Given the description of an element on the screen output the (x, y) to click on. 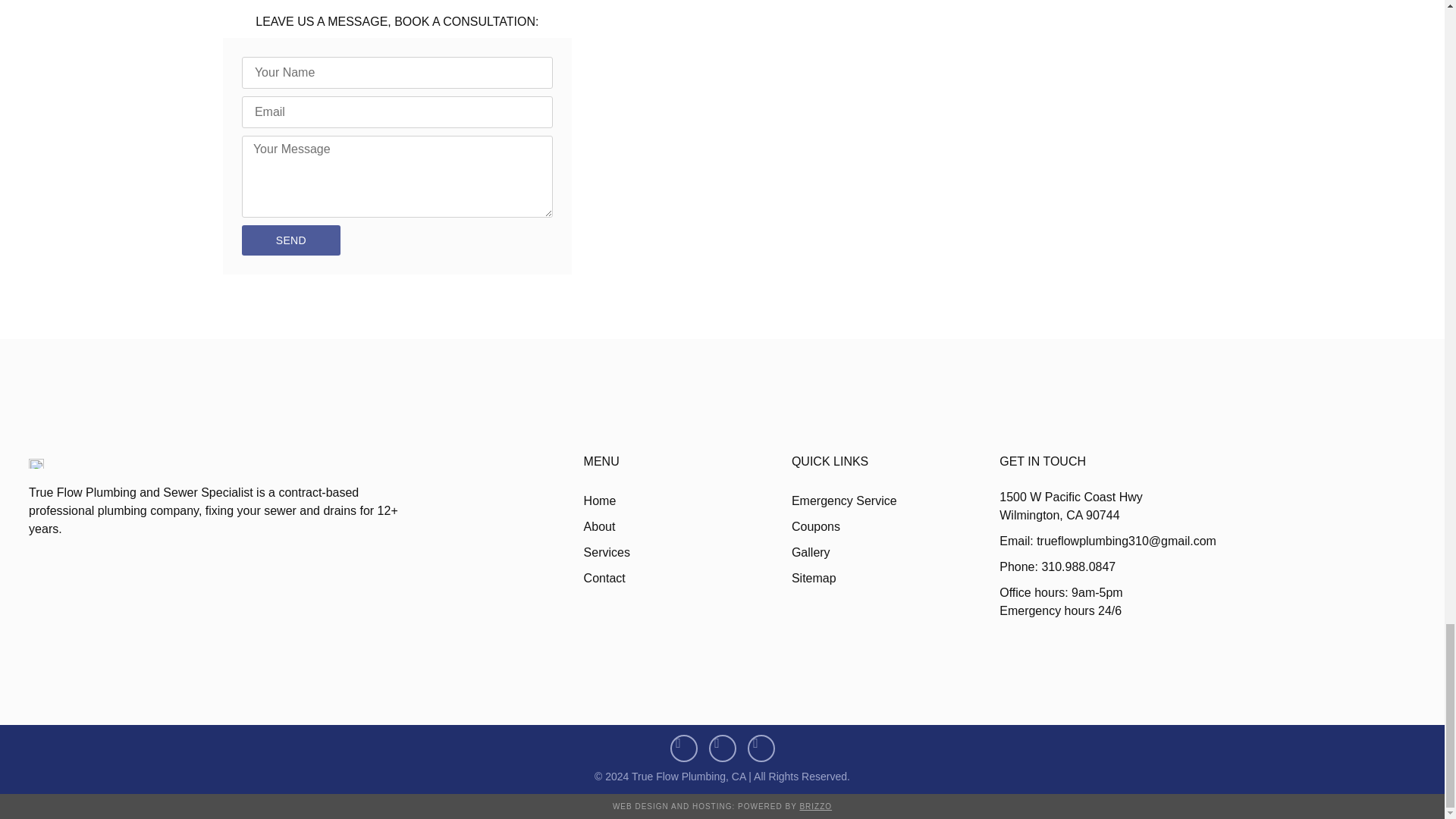
Services (687, 552)
310.988.0847 (421, 0)
Contact (687, 578)
SEND (290, 240)
About (687, 526)
Home (687, 501)
